Given the description of an element on the screen output the (x, y) to click on. 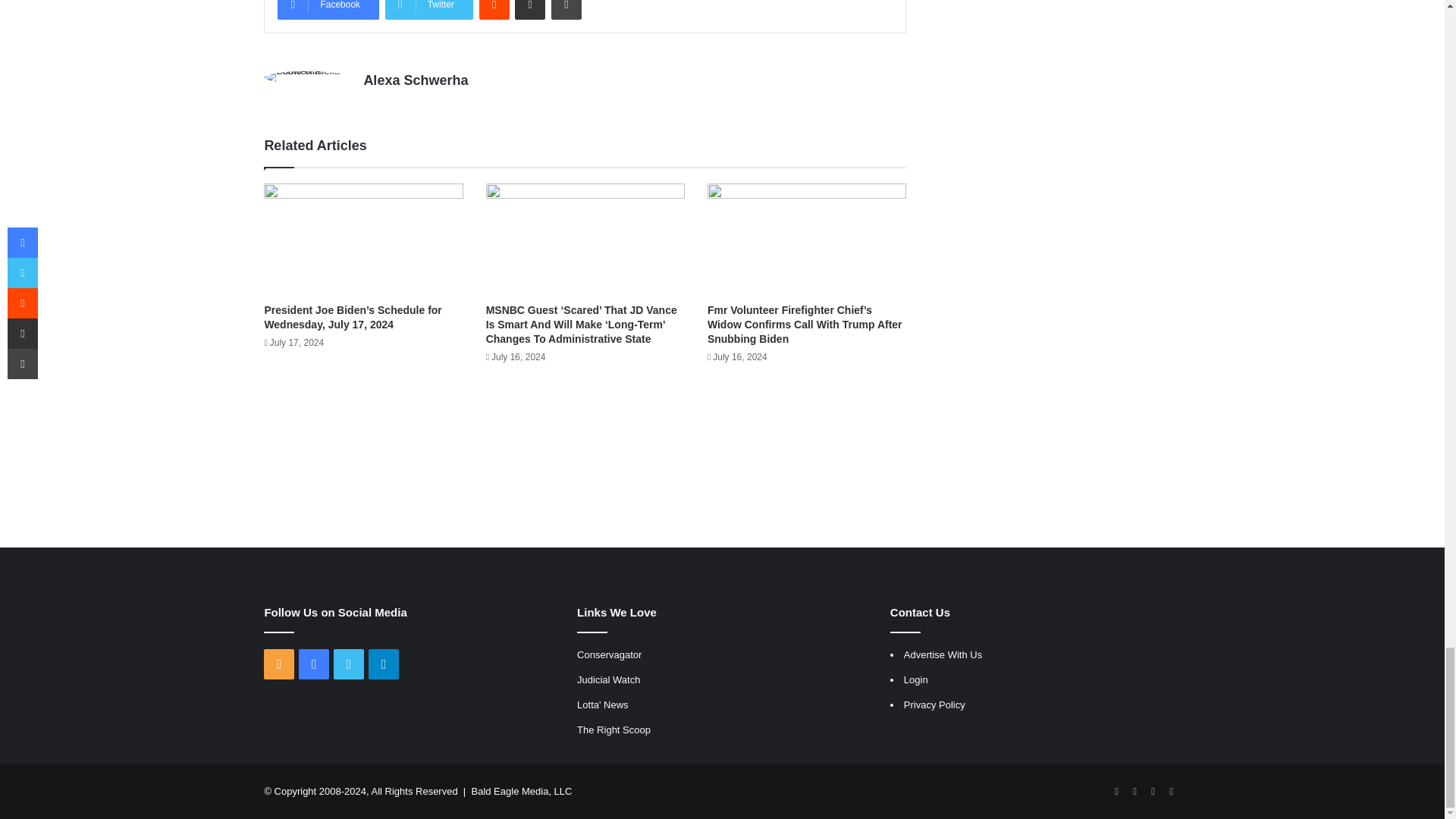
Reddit (494, 9)
Conservative News and Commentary (613, 729)
Twitter (429, 9)
All the Right News, On a Single Page (609, 654)
Facebook (328, 9)
Share via Email (529, 9)
Print (565, 9)
